Given the description of an element on the screen output the (x, y) to click on. 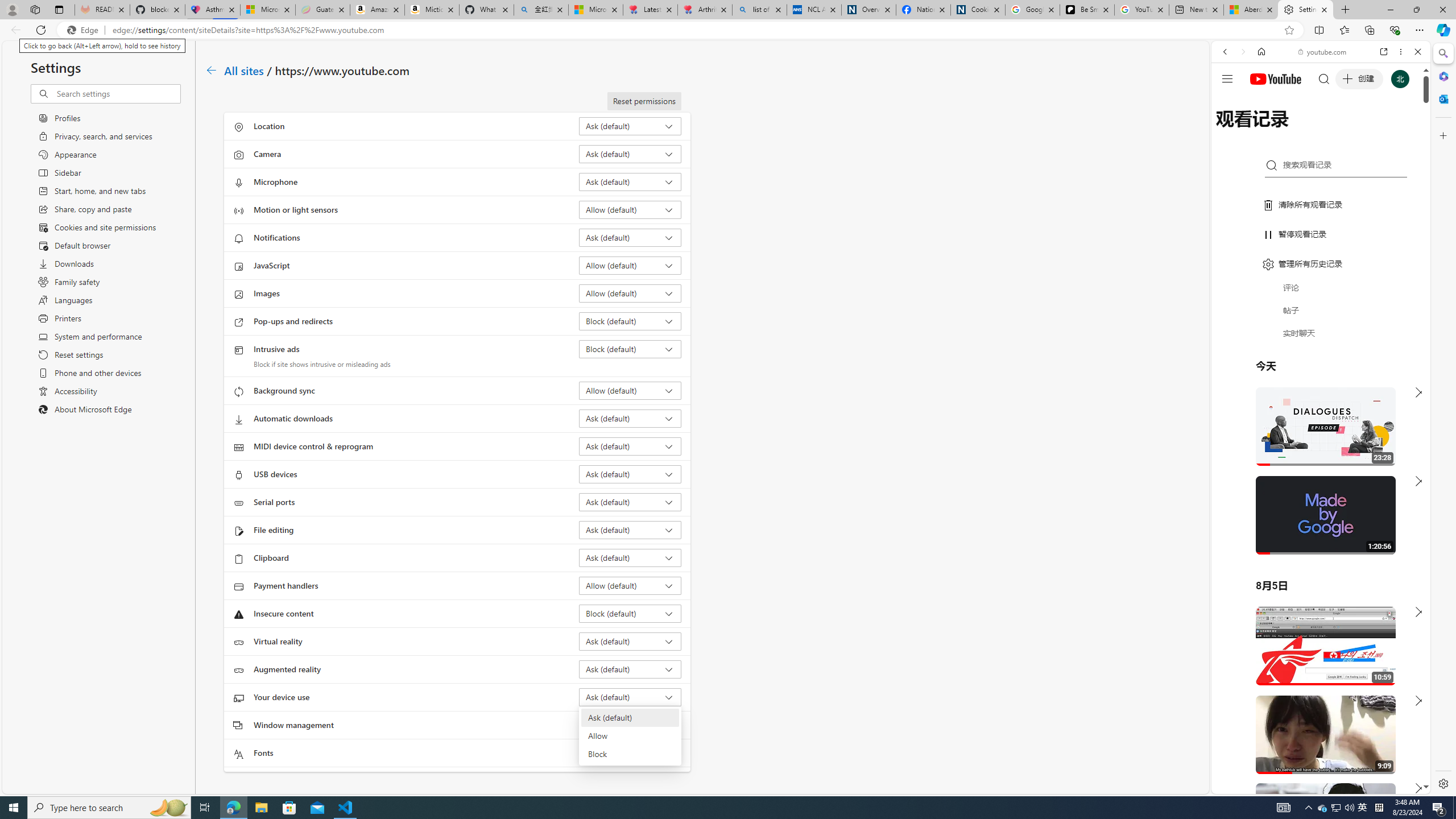
Web scope (1230, 102)
Payment handlers Allow (default) (630, 585)
Trailer #2 [HD] (1320, 336)
